Given the description of an element on the screen output the (x, y) to click on. 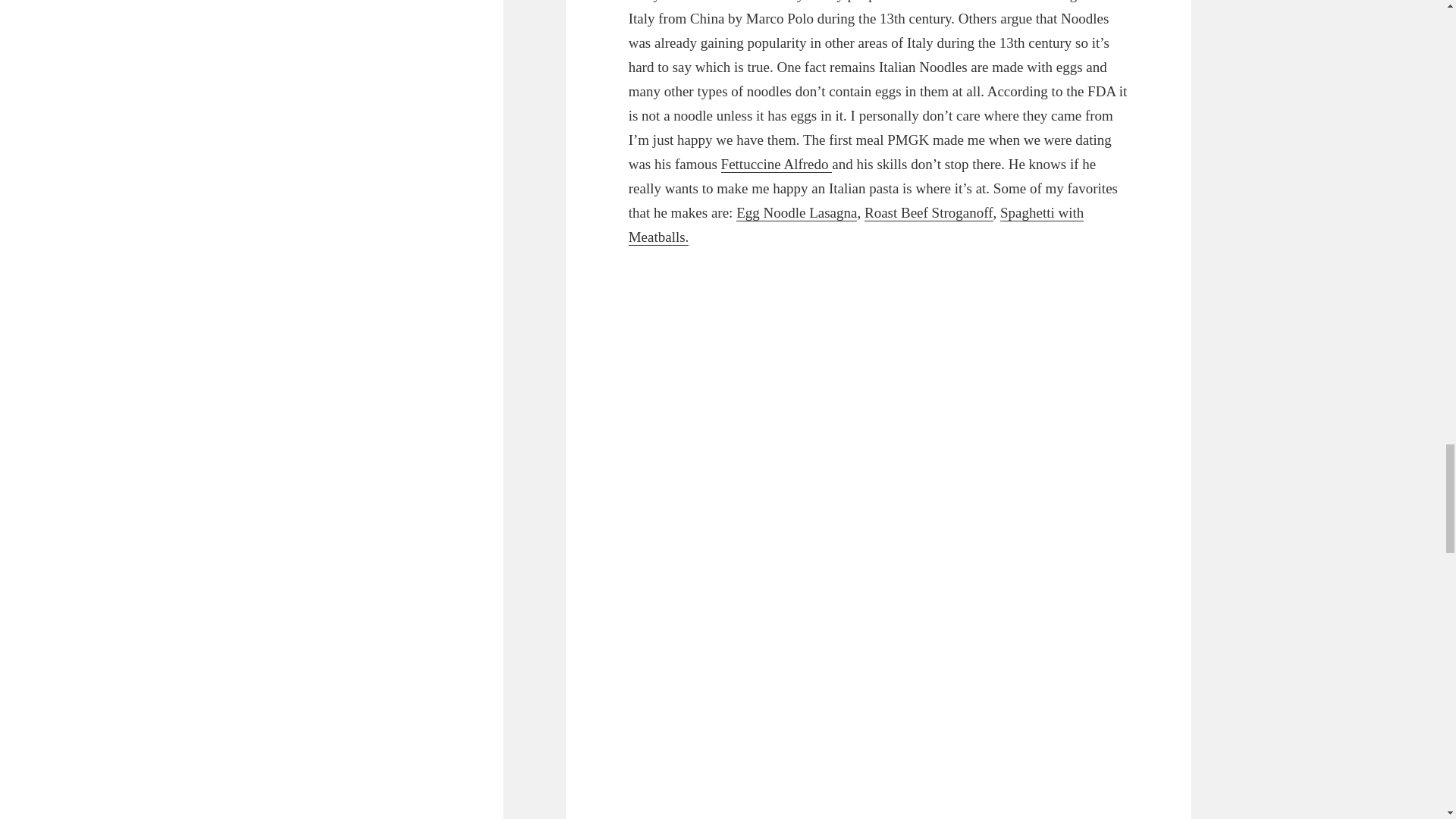
Spaghetti with Meatballs. (856, 224)
Roast Beef Stroganoff (928, 212)
Egg Noodle Lasagna (796, 212)
Fettuccine Alfredo (776, 164)
